Given the description of an element on the screen output the (x, y) to click on. 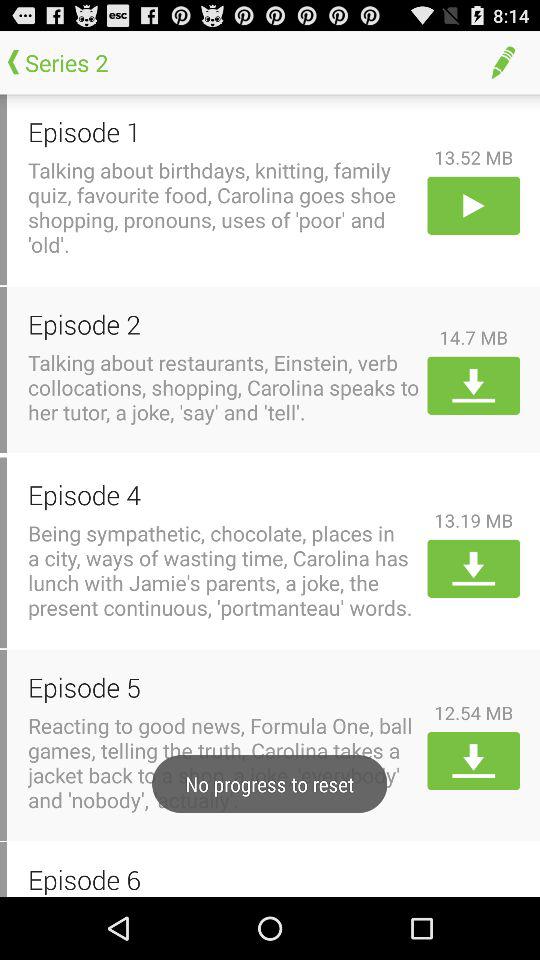
click episode 6 item (224, 879)
